Given the description of an element on the screen output the (x, y) to click on. 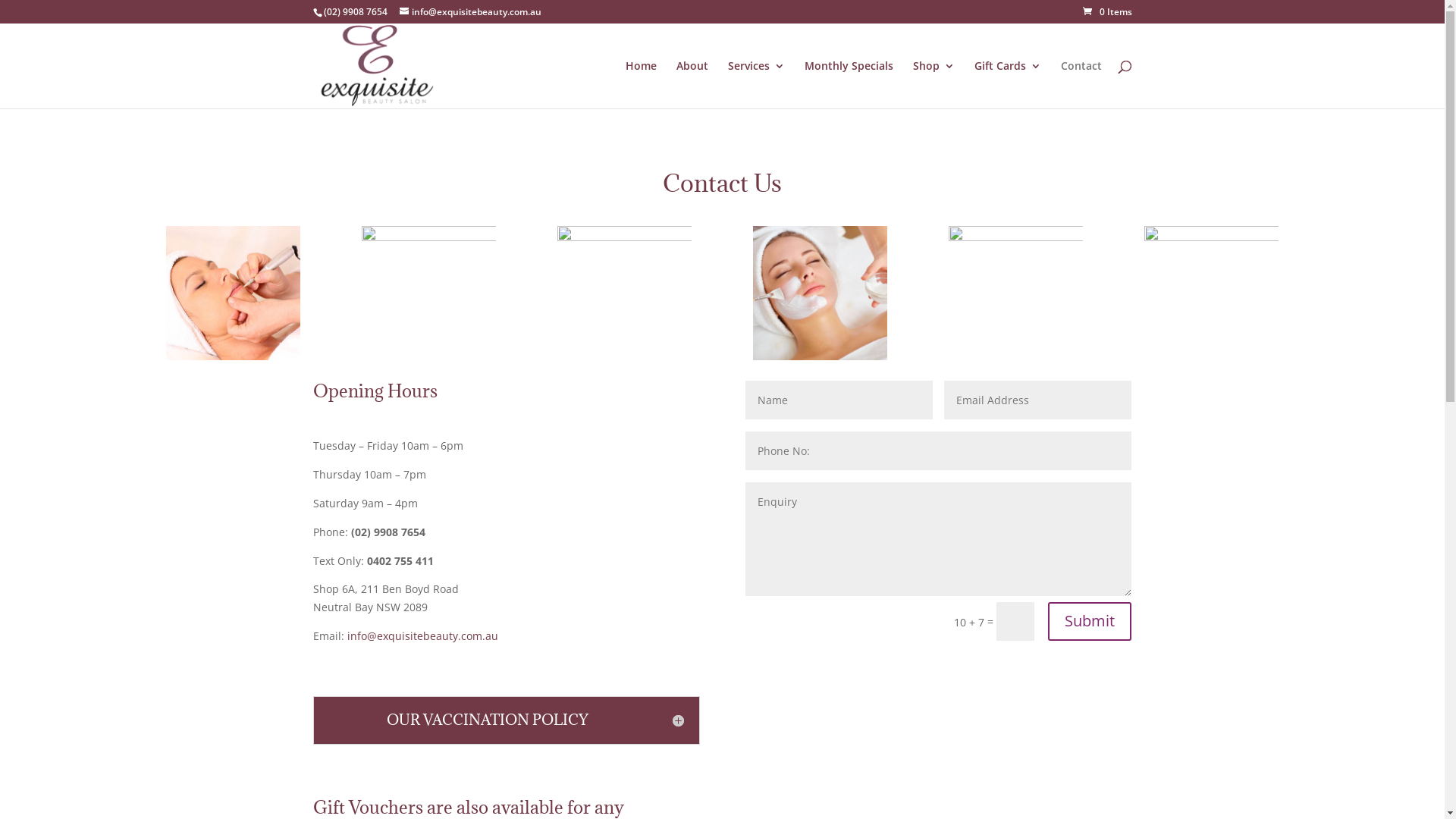
Contact Element type: text (1080, 84)
Shop Element type: text (933, 84)
info@exquisitebeauty.com.au Element type: text (469, 11)
Monthly Specials Element type: text (847, 84)
Minimum length: 8 characters. Maximum length: 30 characters. Element type: hover (838, 399)
Gift Cards Element type: text (1006, 84)
About Element type: text (692, 84)
info@exquisitebeauty.com.au Element type: text (422, 635)
Submit Element type: text (1089, 621)
0 Items Element type: text (1107, 11)
Home Element type: text (639, 84)
Services Element type: text (756, 84)
